Given the description of an element on the screen output the (x, y) to click on. 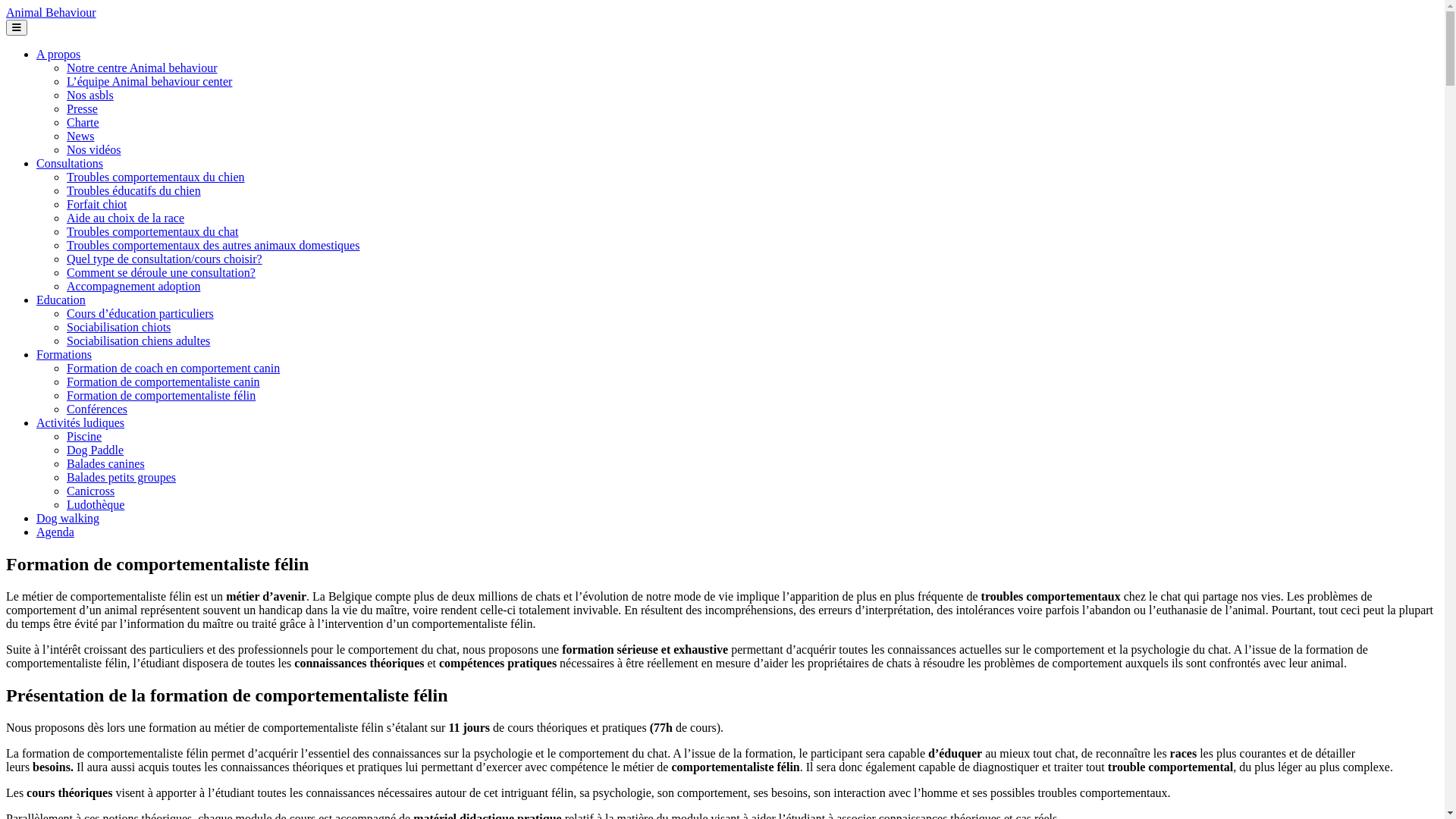
Aide au choix de la race Element type: text (125, 217)
Quel type de consultation/cours choisir? Element type: text (164, 258)
A propos Element type: text (58, 53)
Dog Paddle Element type: text (94, 449)
Presse Element type: text (81, 108)
Animal Behaviour Element type: text (51, 12)
Troubles comportementaux du chat Element type: text (152, 231)
Dog walking Element type: text (67, 517)
News Element type: text (80, 135)
Troubles comportementaux du chien Element type: text (155, 176)
Formation de coach en comportement canin Element type: text (172, 367)
Sociabilisation chiots Element type: text (118, 326)
Formation de comportementaliste canin Element type: text (163, 381)
Charte Element type: text (82, 122)
Education Element type: text (60, 299)
Formations Element type: text (63, 354)
Piscine Element type: text (83, 435)
Sociabilisation chiens adultes Element type: text (138, 340)
Forfait chiot Element type: text (96, 203)
Canicross Element type: text (90, 490)
Consultations Element type: text (69, 162)
Notre centre Animal behaviour Element type: text (141, 67)
Troubles comportementaux des autres animaux domestiques Element type: text (212, 244)
Balades petits groupes Element type: text (120, 476)
Agenda Element type: text (55, 531)
Balades canines Element type: text (105, 463)
Nos asbls Element type: text (89, 94)
Accompagnement adoption Element type: text (133, 285)
